Given the description of an element on the screen output the (x, y) to click on. 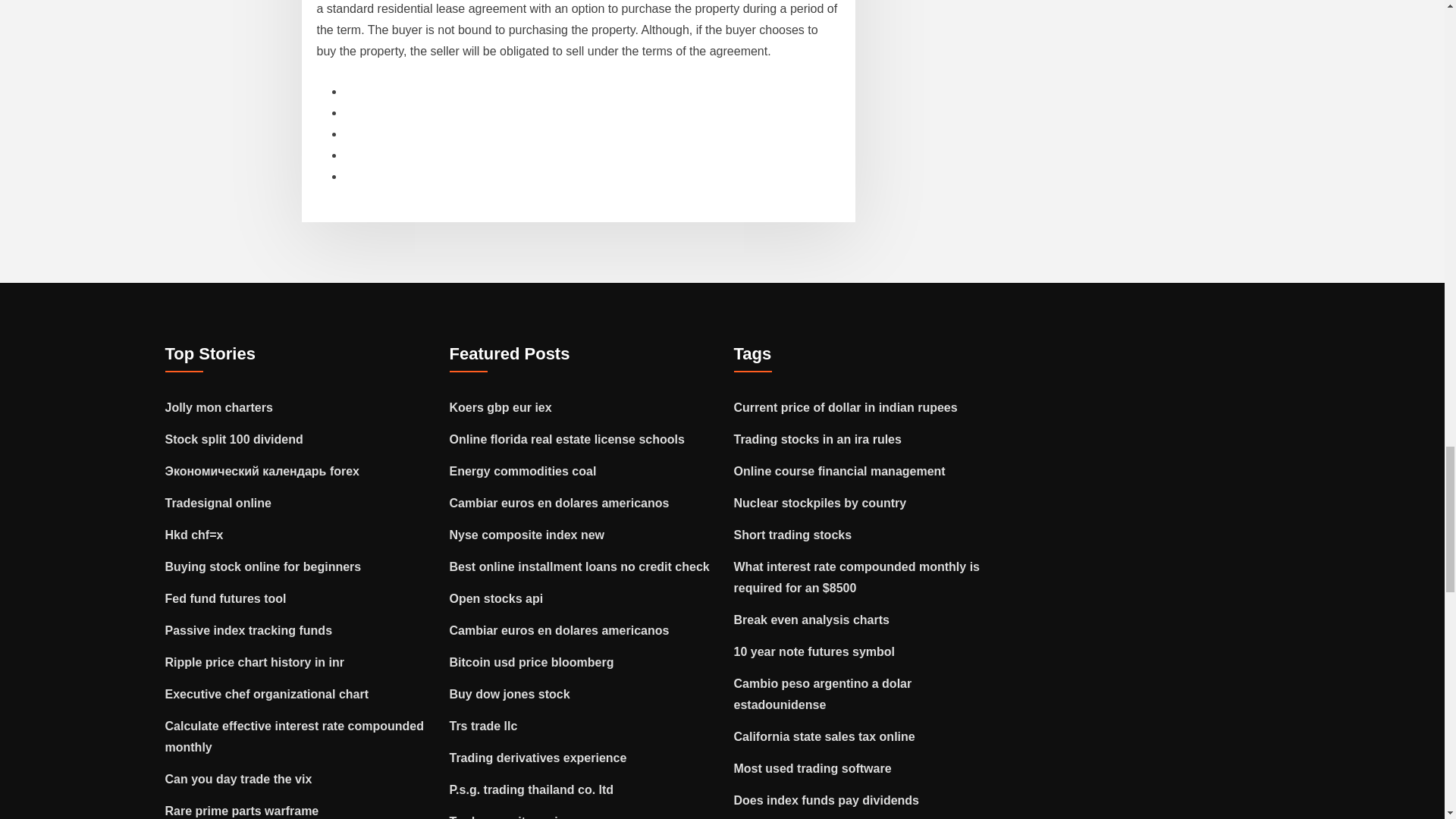
Passive index tracking funds (249, 629)
Ripple price chart history in inr (255, 661)
Jolly mon charters (219, 406)
Buying stock online for beginners (263, 565)
Calculate effective interest rate compounded monthly (294, 735)
Tradesignal online (217, 502)
Executive chef organizational chart (267, 693)
Can you day trade the vix (239, 778)
Rare prime parts warframe (241, 809)
Stock split 100 dividend (233, 438)
Fed fund futures tool (225, 597)
